Given the description of an element on the screen output the (x, y) to click on. 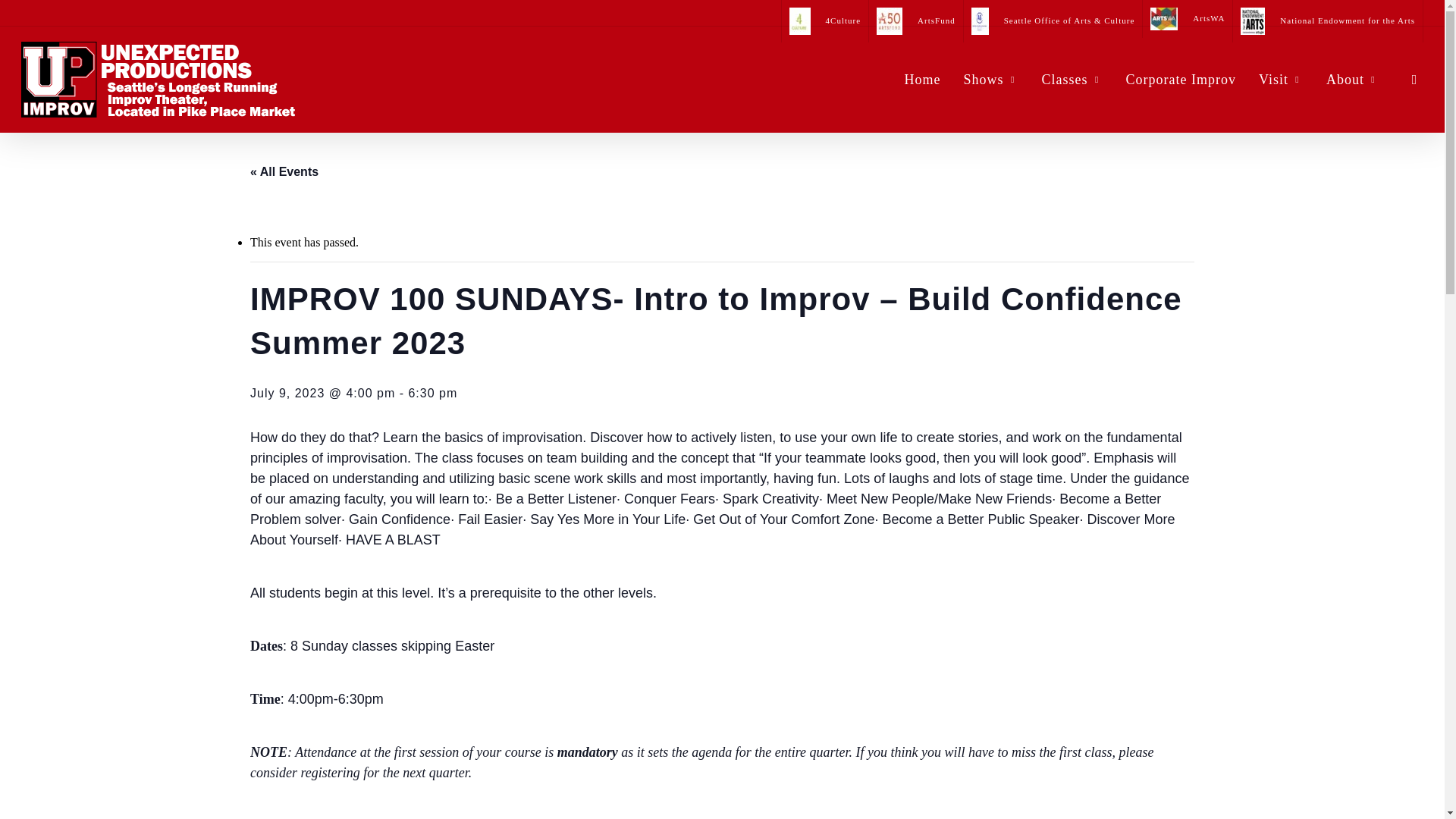
ArtsWA (1186, 18)
search (1414, 79)
Shows (991, 79)
4Culture (824, 21)
ArtsFund (914, 21)
About (1352, 79)
National Endowment for the Arts (1326, 21)
Corporate Improv (1181, 79)
Classes (1072, 79)
Visit (1280, 79)
